Given the description of an element on the screen output the (x, y) to click on. 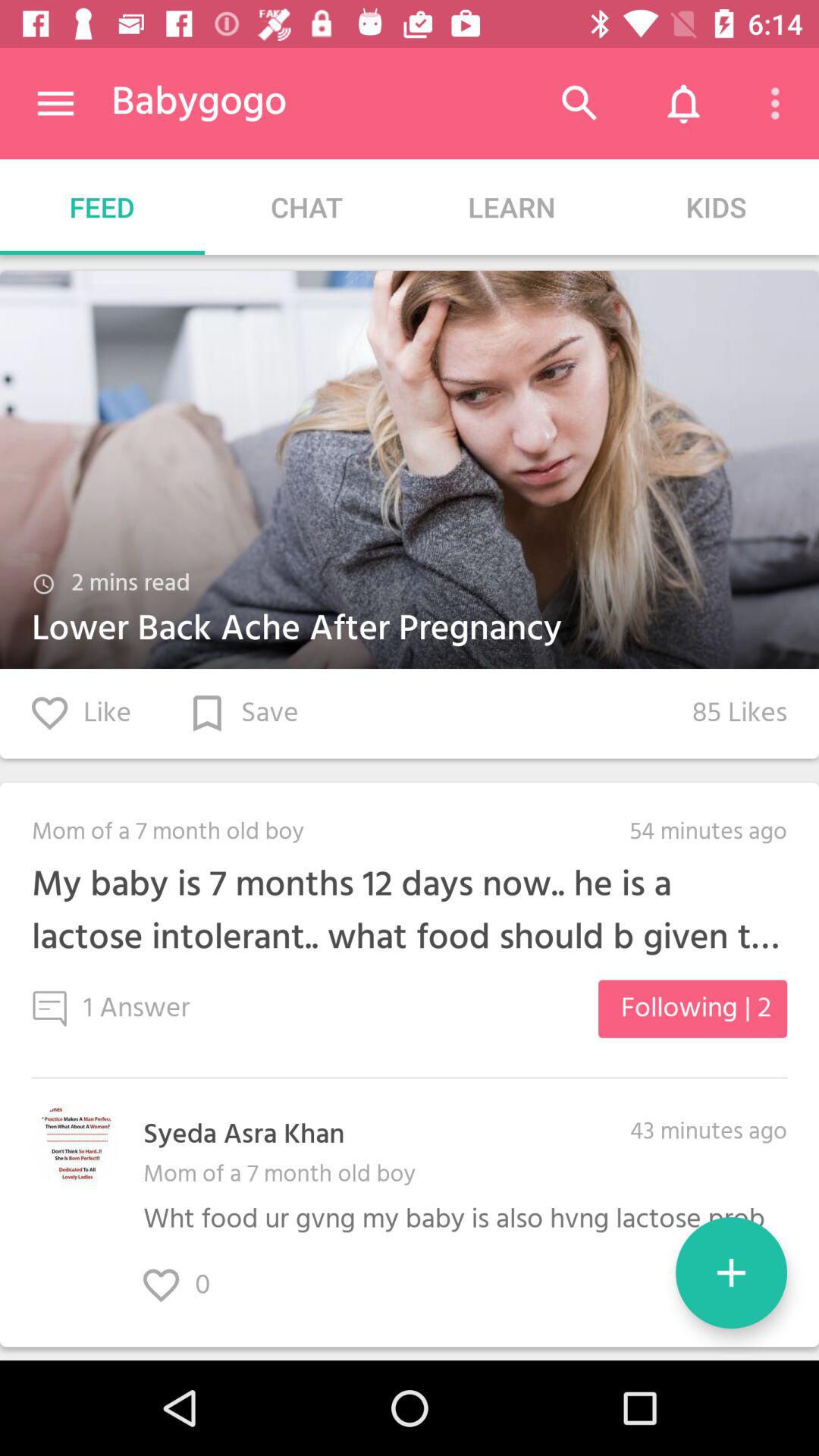
turn on the item next to 85 likes (244, 713)
